Given the description of an element on the screen output the (x, y) to click on. 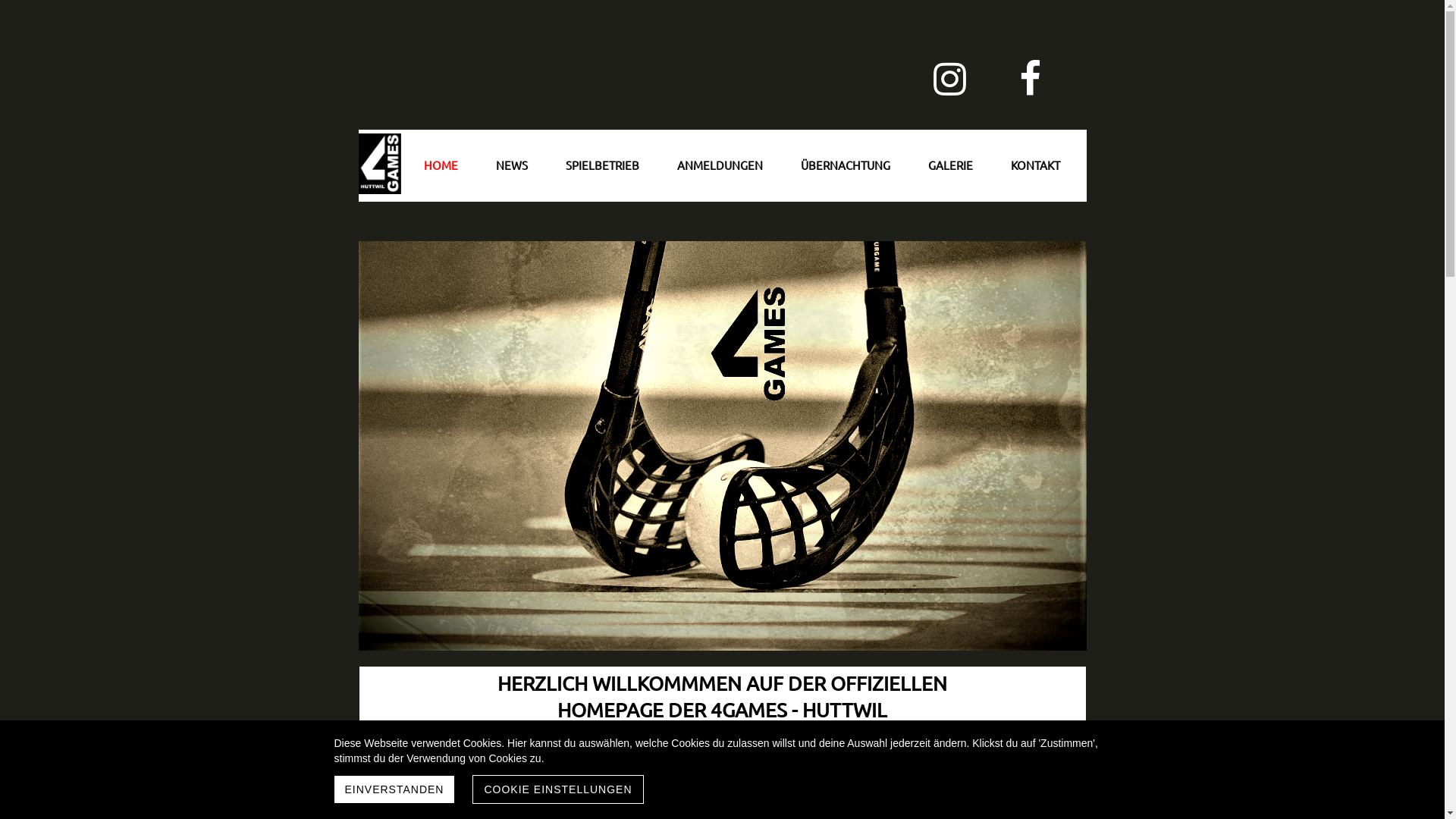
KONTAKT Element type: text (1035, 164)
HOME Element type: text (440, 164)
NEWS Element type: text (511, 164)
SPIELBETRIEB Element type: text (601, 164)
EINVERSTANDEN Element type: text (393, 789)
GALERIE Element type: text (949, 164)
ANMELDUNGEN Element type: text (719, 164)
COOKIE EINSTELLUNGEN Element type: text (557, 789)
